Given the description of an element on the screen output the (x, y) to click on. 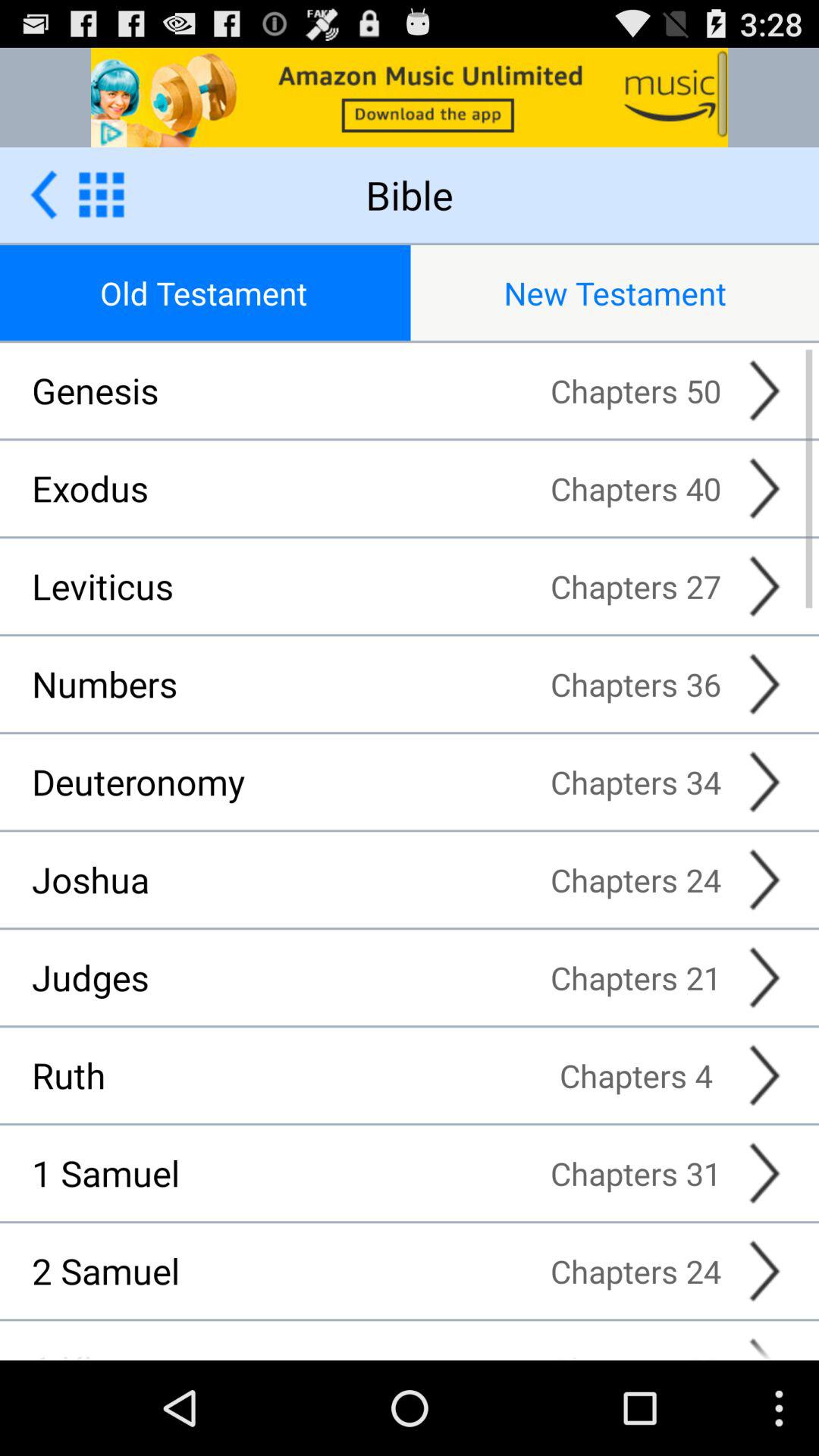
view advertisement (409, 97)
